Given the description of an element on the screen output the (x, y) to click on. 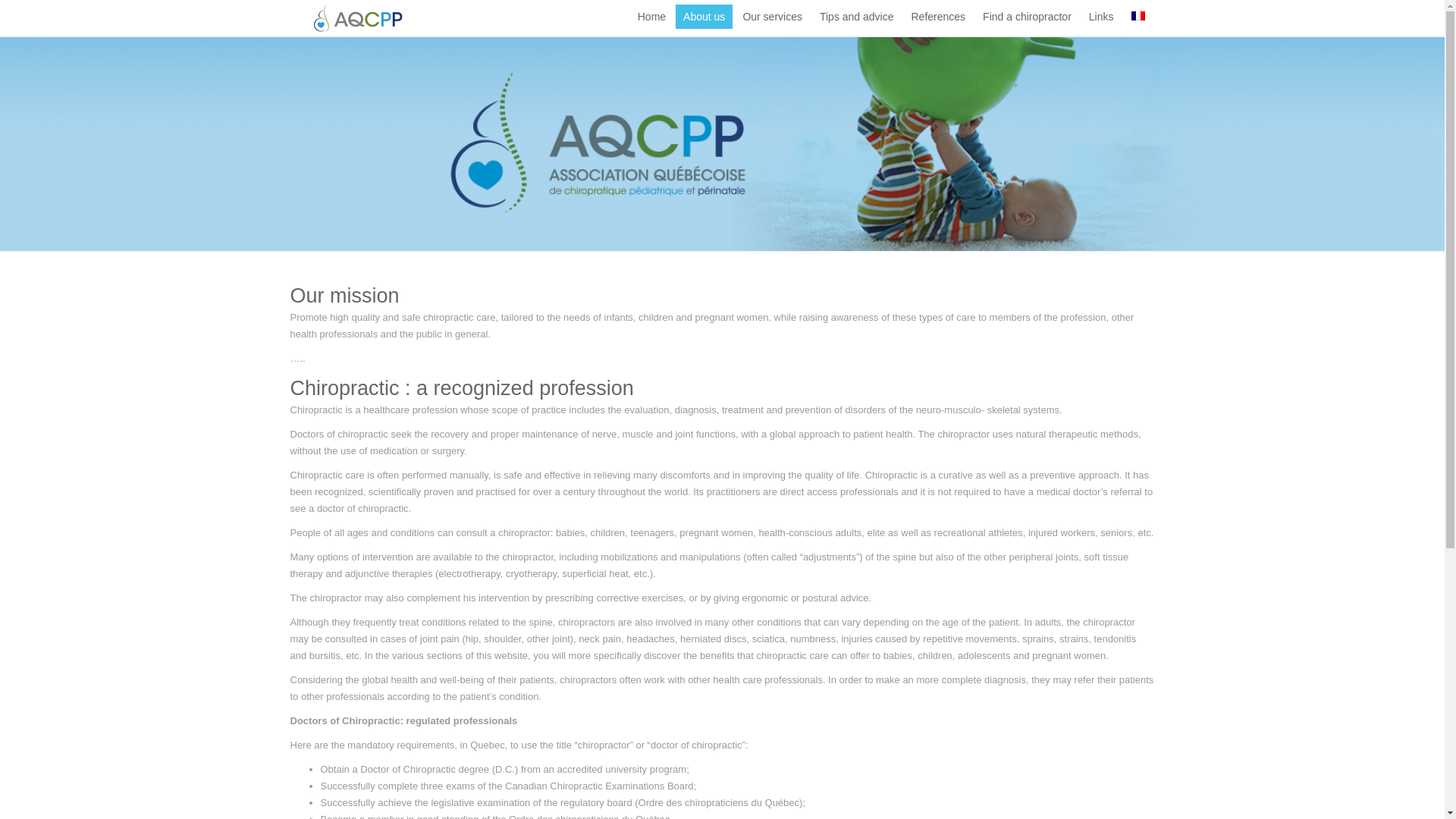
Tips and advice (856, 16)
Find a chiropractor (1026, 16)
References (939, 16)
Home (651, 16)
Links (1101, 16)
About us (703, 16)
Our services (772, 16)
